Given the description of an element on the screen output the (x, y) to click on. 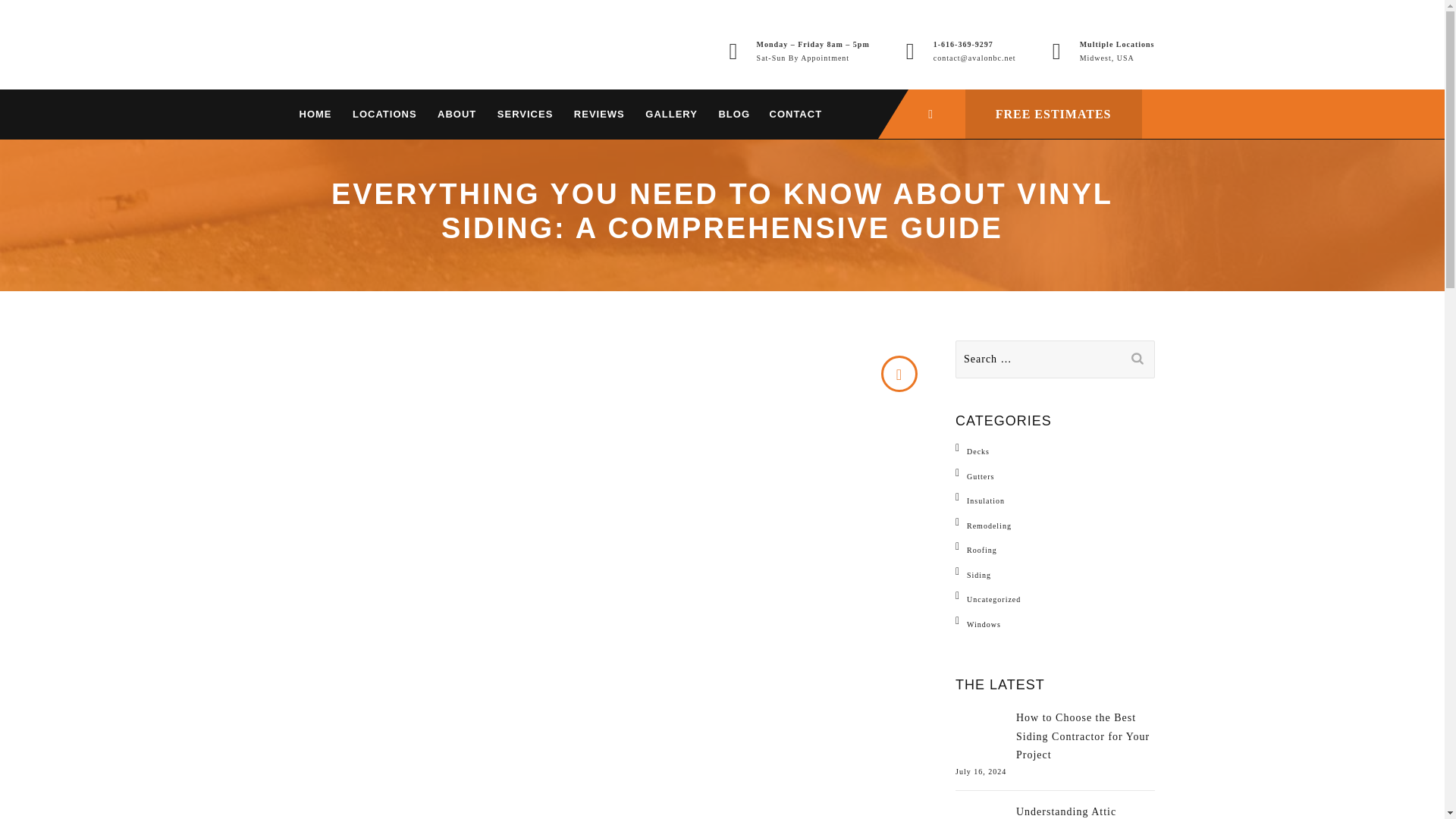
Search (1136, 356)
SERVICES (525, 113)
Search (1136, 356)
CONTACT (795, 113)
Avalon Roofing and Exteriors (402, 51)
LOCATIONS (384, 113)
FREE ESTIMATES (1053, 113)
GALLERY (671, 113)
REVIEWS (598, 113)
1-616-369-9297 (962, 44)
